Given the description of an element on the screen output the (x, y) to click on. 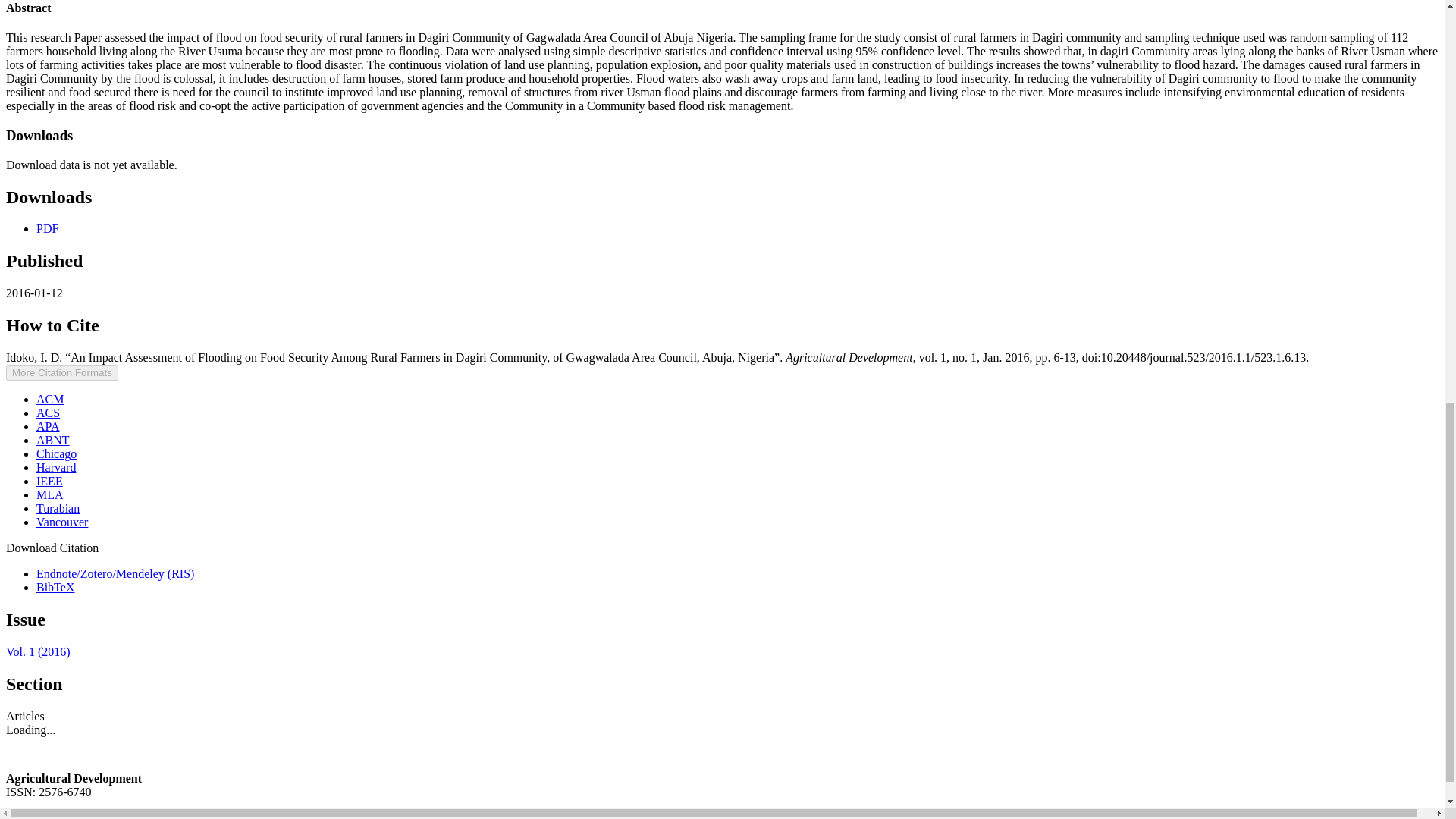
APA (47, 426)
MLA (50, 494)
ACM (50, 399)
Harvard (55, 467)
Vancouver (61, 521)
BibTeX (55, 586)
Turabian (58, 508)
ACS (47, 412)
More Citation Formats (61, 372)
ABNT (52, 440)
IEEE (49, 481)
PDF (47, 228)
Chicago (56, 453)
